Given the description of an element on the screen output the (x, y) to click on. 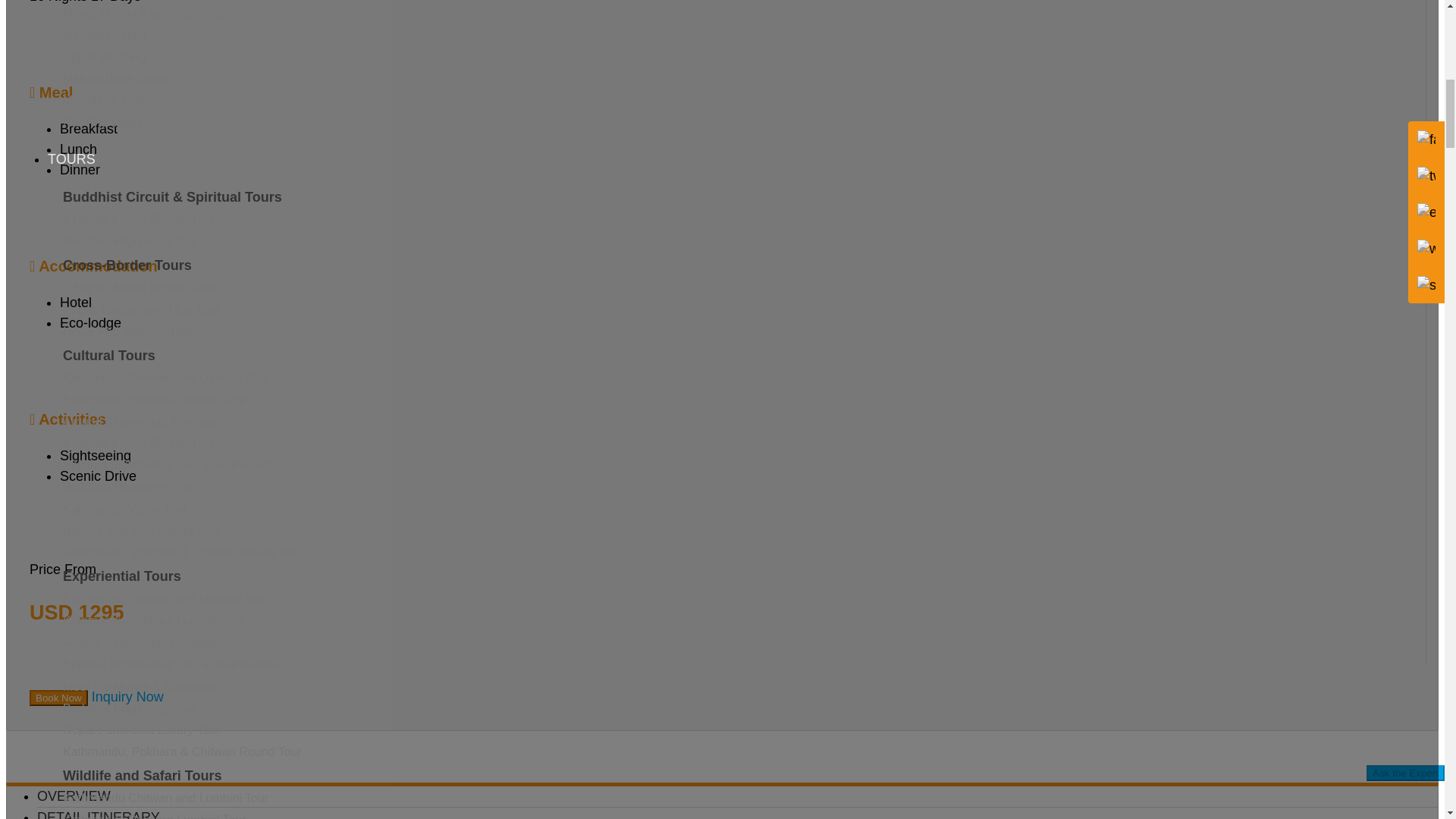
Inquiry (127, 696)
Manaslu Circuit (104, 34)
Upper Mustang (103, 56)
Manaslu Circuit with Tsum Valley (150, 12)
